Given the description of an element on the screen output the (x, y) to click on. 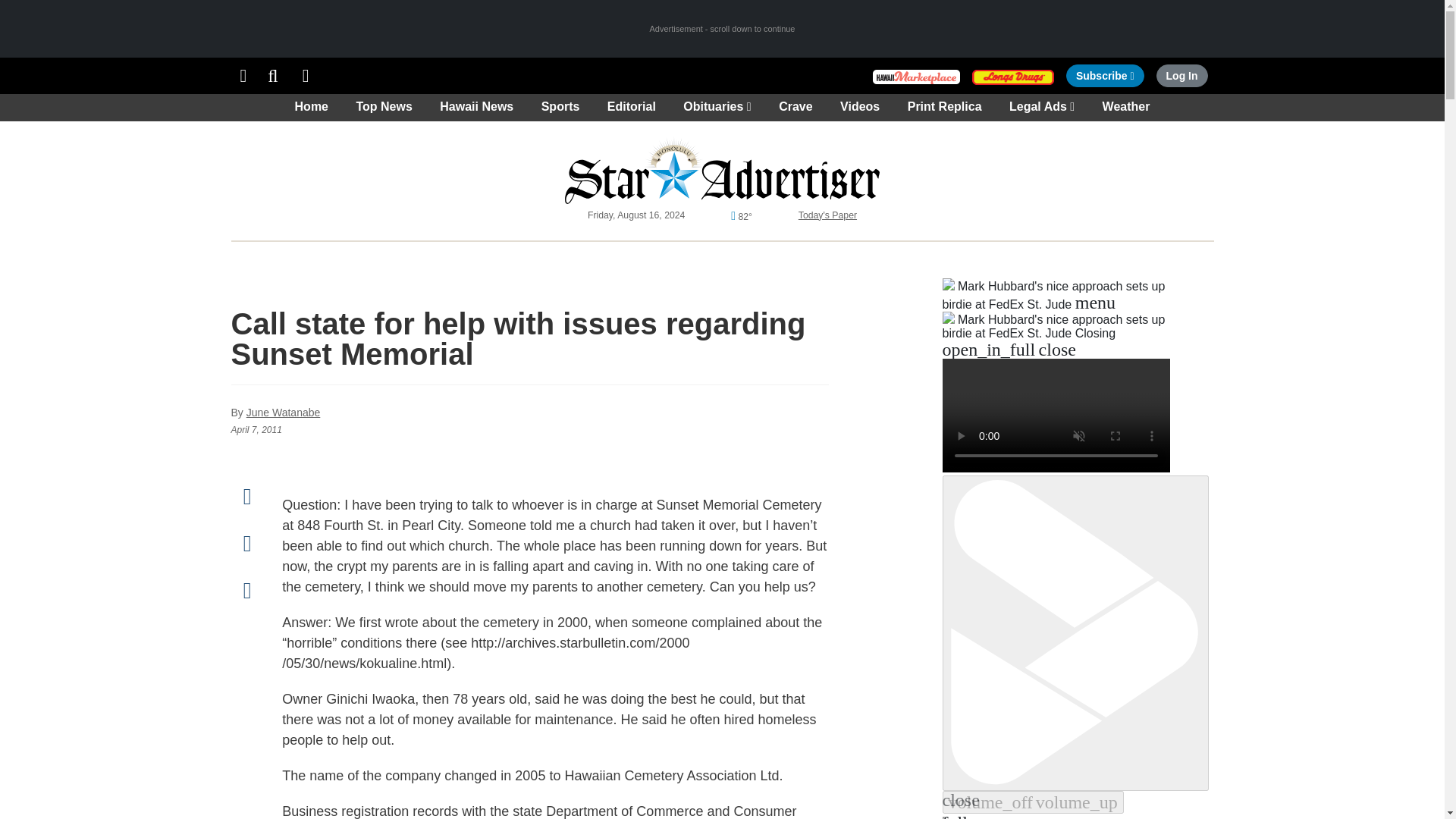
Sections (243, 75)
Log In (1182, 75)
See more stories by June Watanabe (283, 412)
Honolulu Star-Advertiser (721, 169)
Print Replica (306, 75)
Search (272, 75)
Opens in a new tab (1104, 75)
Opens in a new tab (1013, 75)
